Given the description of an element on the screen output the (x, y) to click on. 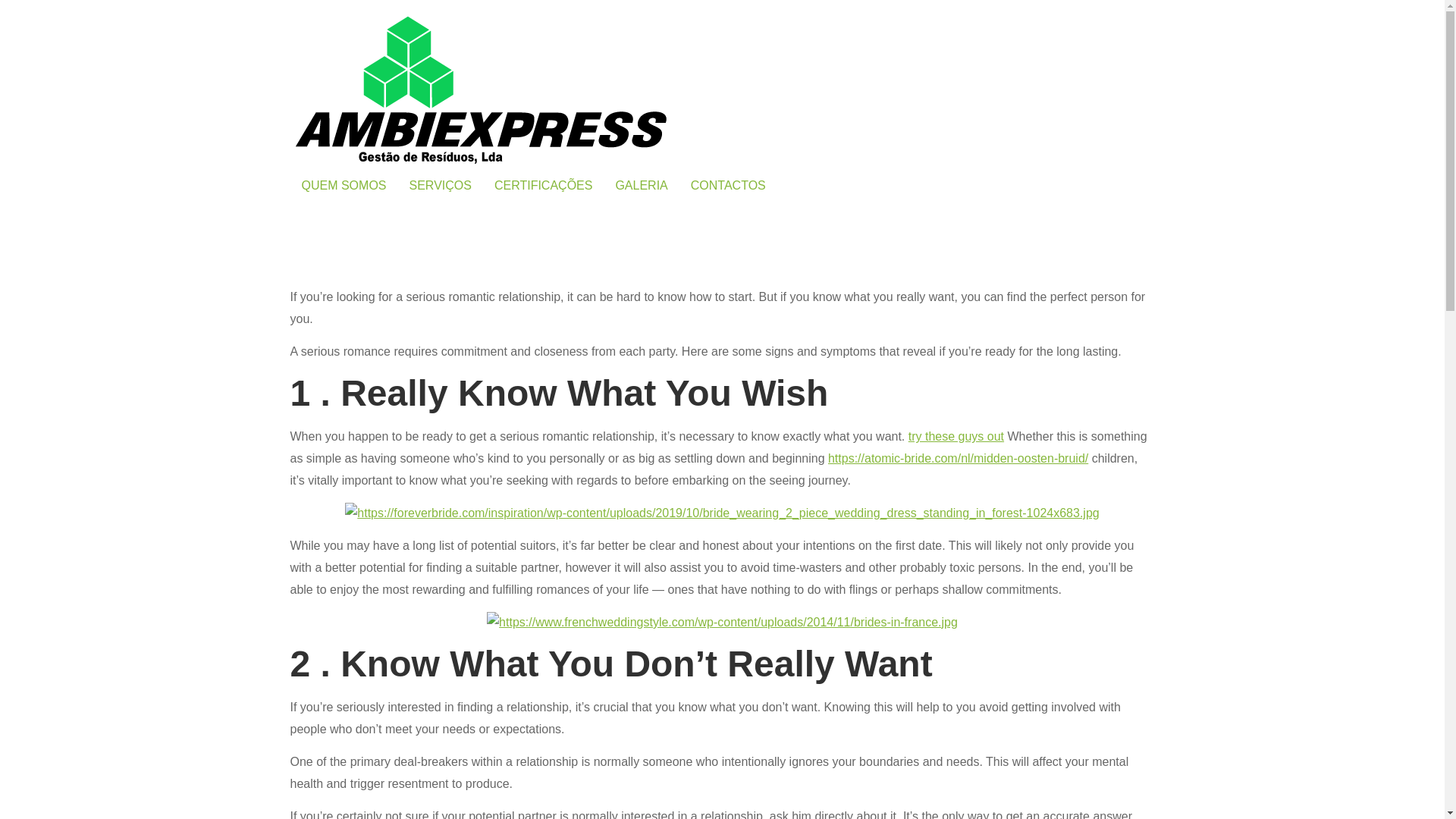
try these guys out (956, 436)
CONTACTOS (728, 185)
QUEM SOMOS (343, 185)
GALERIA (641, 185)
